Given the description of an element on the screen output the (x, y) to click on. 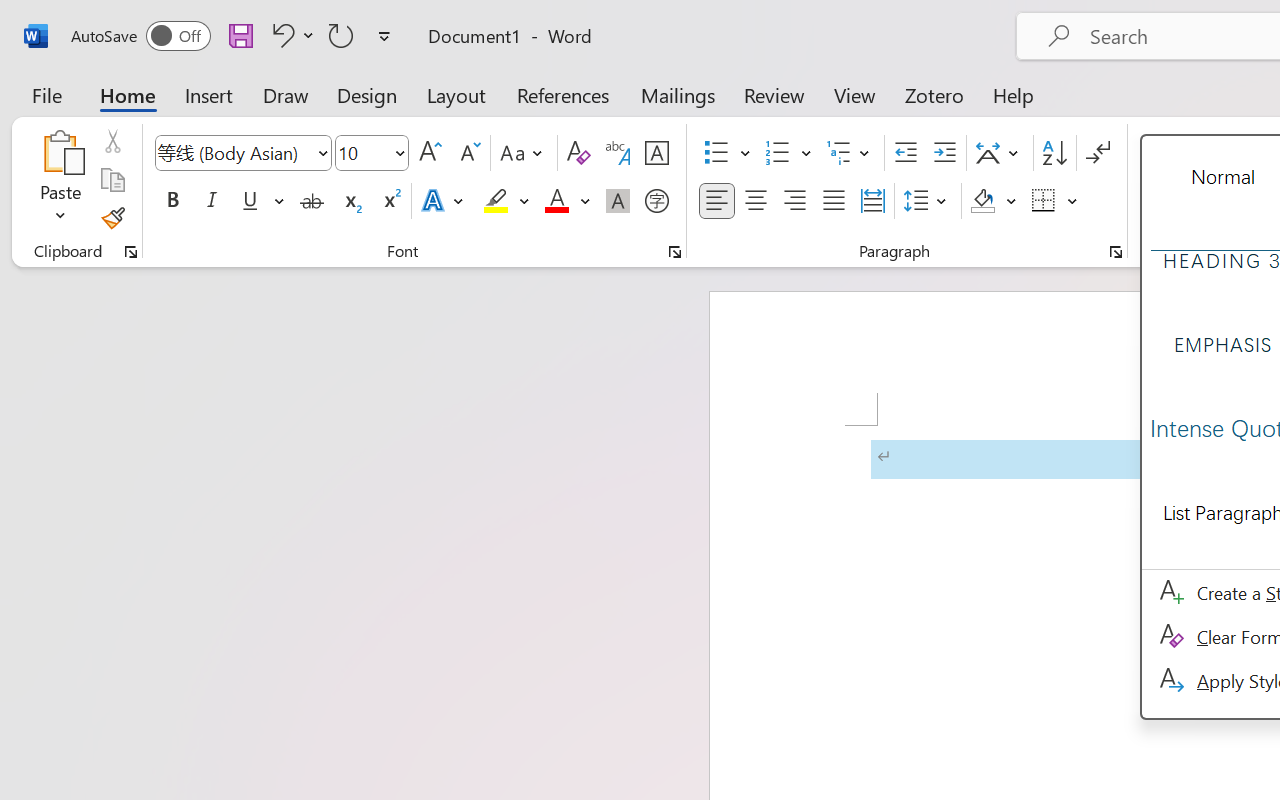
Repeat Style (341, 35)
Undo Apply Quick Style (280, 35)
